Given the description of an element on the screen output the (x, y) to click on. 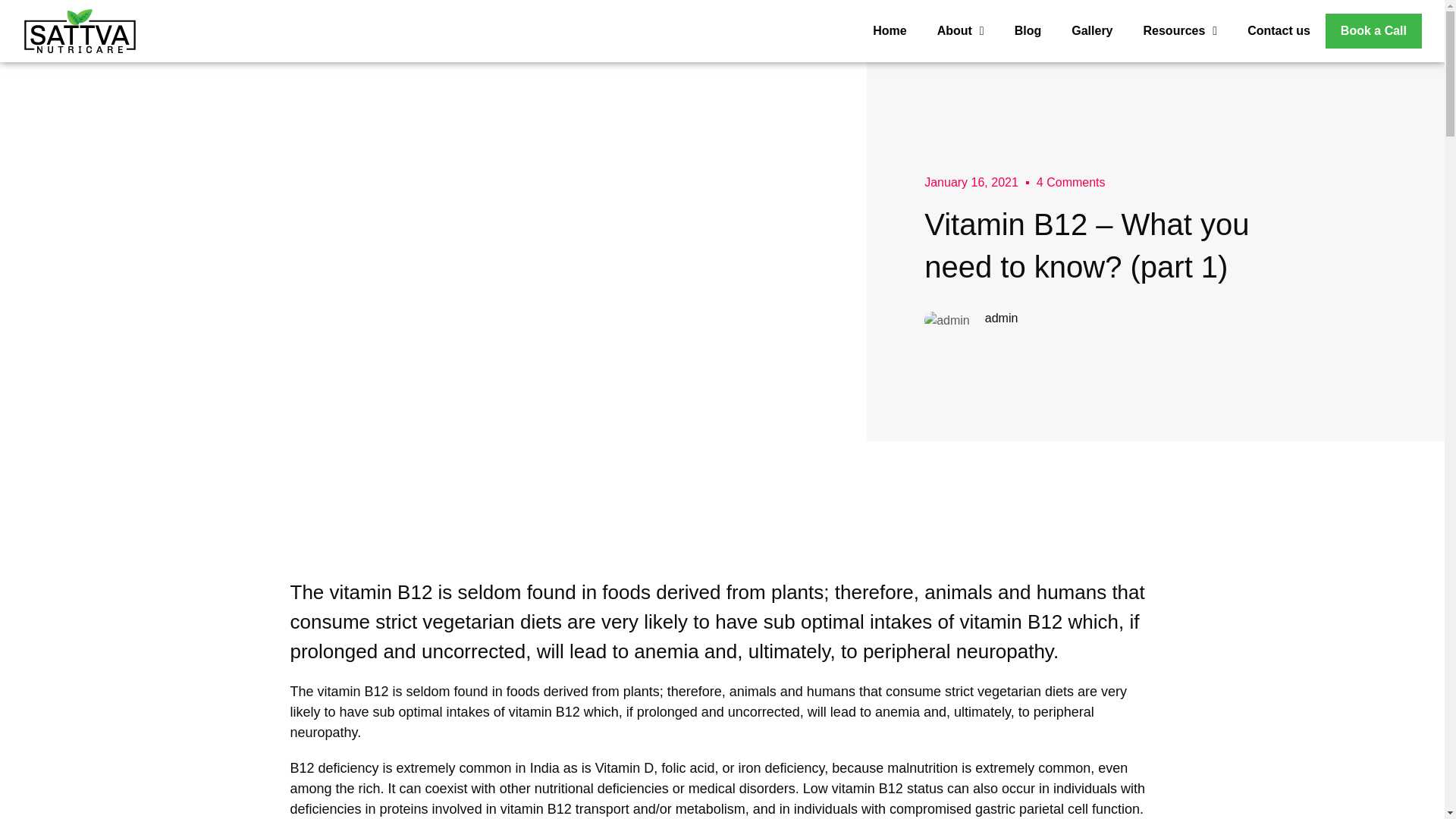
Blog (1027, 30)
Home (889, 30)
Gallery (1091, 30)
Resources (1180, 30)
Contact us (1277, 30)
Book a Call (1373, 30)
About (959, 30)
